Given the description of an element on the screen output the (x, y) to click on. 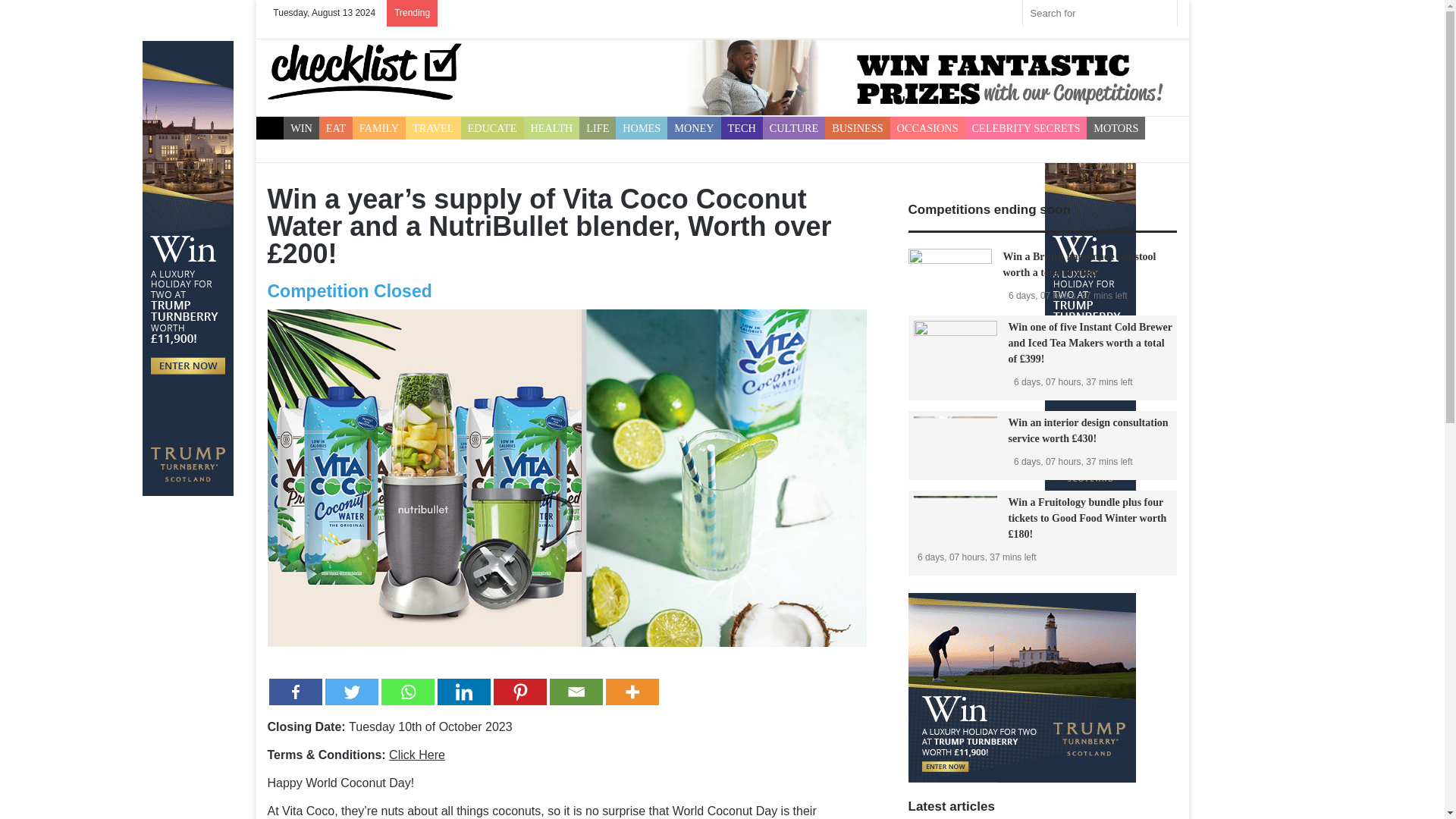
Checklists (363, 71)
WIN (300, 128)
Linkedin (462, 691)
EAT (335, 128)
Twitter (350, 691)
Email (575, 691)
More (631, 691)
Search for (1099, 13)
Whatsapp (406, 691)
Pinterest (519, 691)
